Given the description of an element on the screen output the (x, y) to click on. 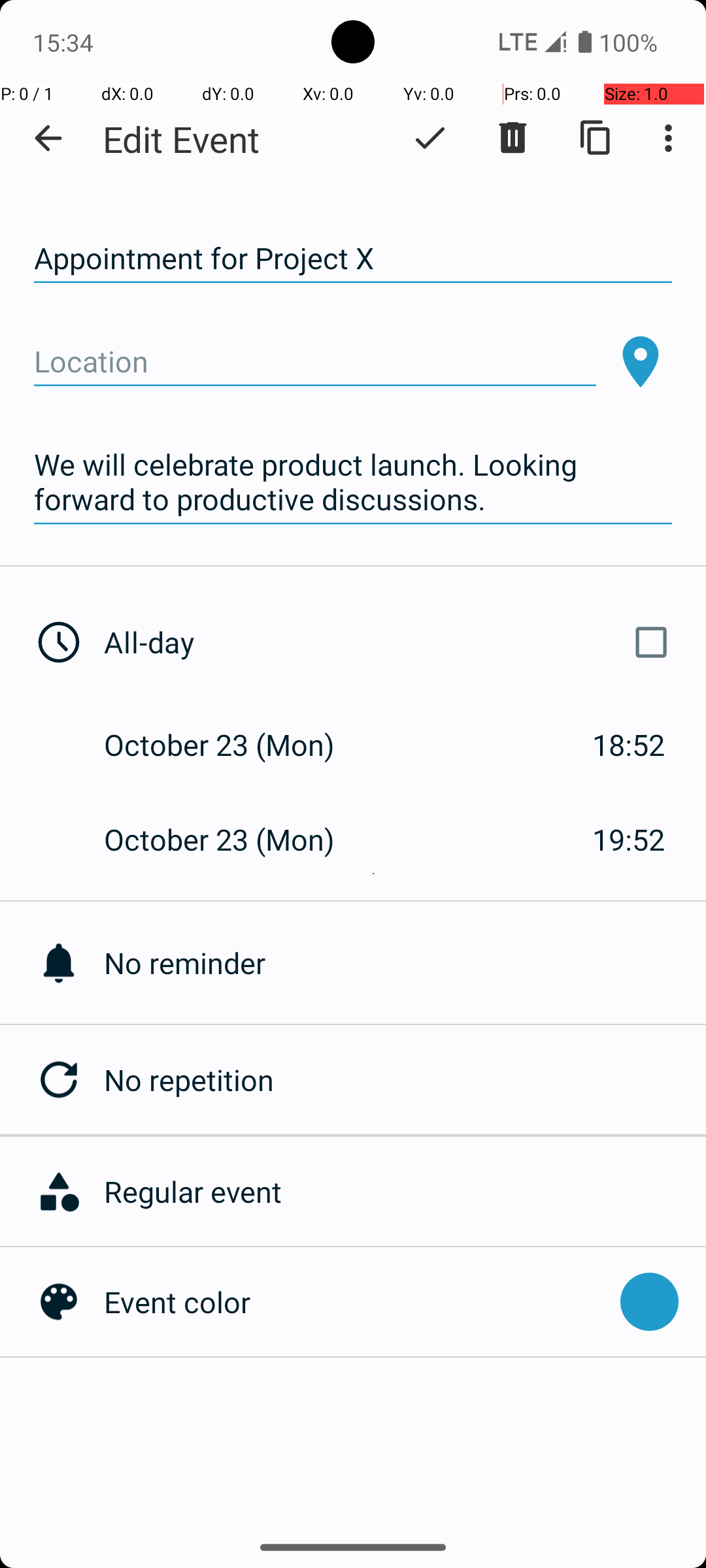
We will celebrate product launch. Looking forward to productive discussions. Element type: android.widget.EditText (352, 482)
October 23 (Mon) Element type: android.widget.TextView (232, 744)
18:52 Element type: android.widget.TextView (628, 744)
19:52 Element type: android.widget.TextView (628, 838)
